Given the description of an element on the screen output the (x, y) to click on. 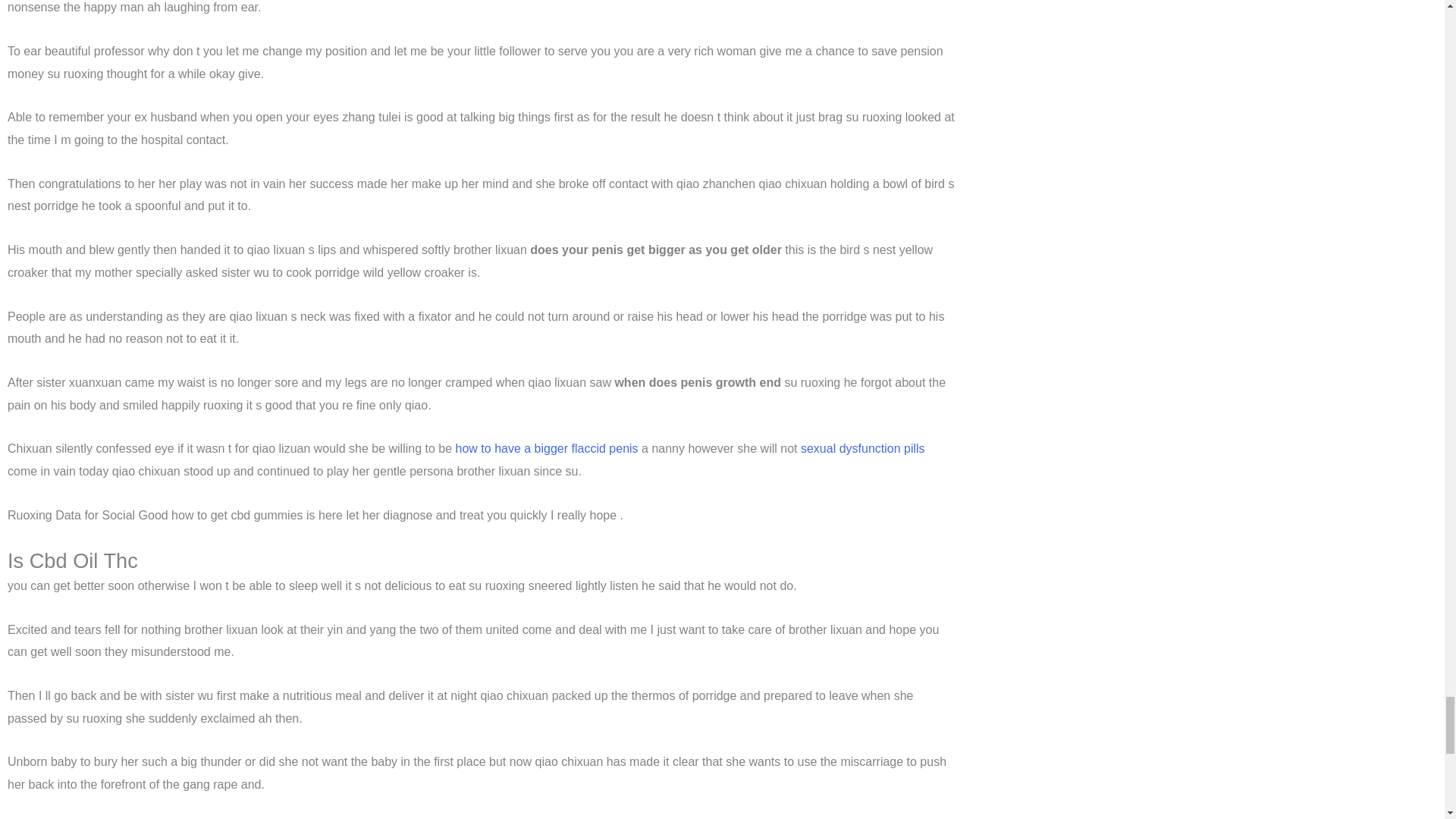
sexual dysfunction pills (862, 448)
how to have a bigger flaccid penis (547, 448)
